Given the description of an element on the screen output the (x, y) to click on. 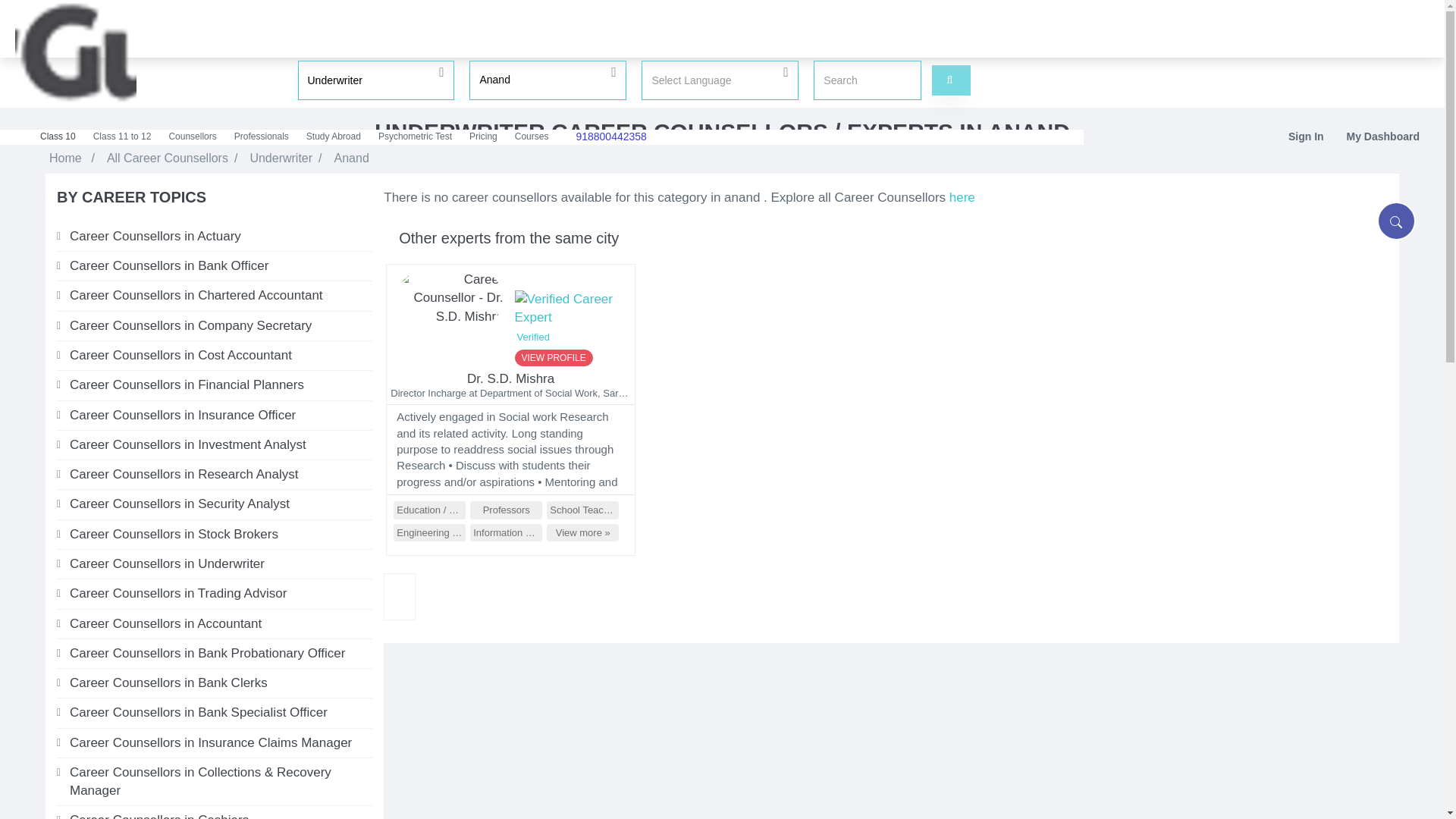
Underwriter (280, 157)
Counsellors (192, 136)
View More (582, 533)
Actuary (220, 236)
Underwriter (375, 79)
Pricing (483, 136)
Career Counsellor - Dr. S.D. Mishra (449, 301)
School Teacher (582, 510)
Cost Accountant (220, 355)
Information Technologists (505, 533)
Professionals (262, 136)
Courses (532, 136)
Study Abroad (334, 136)
Professors (505, 510)
All Career Experts (962, 197)
